Given the description of an element on the screen output the (x, y) to click on. 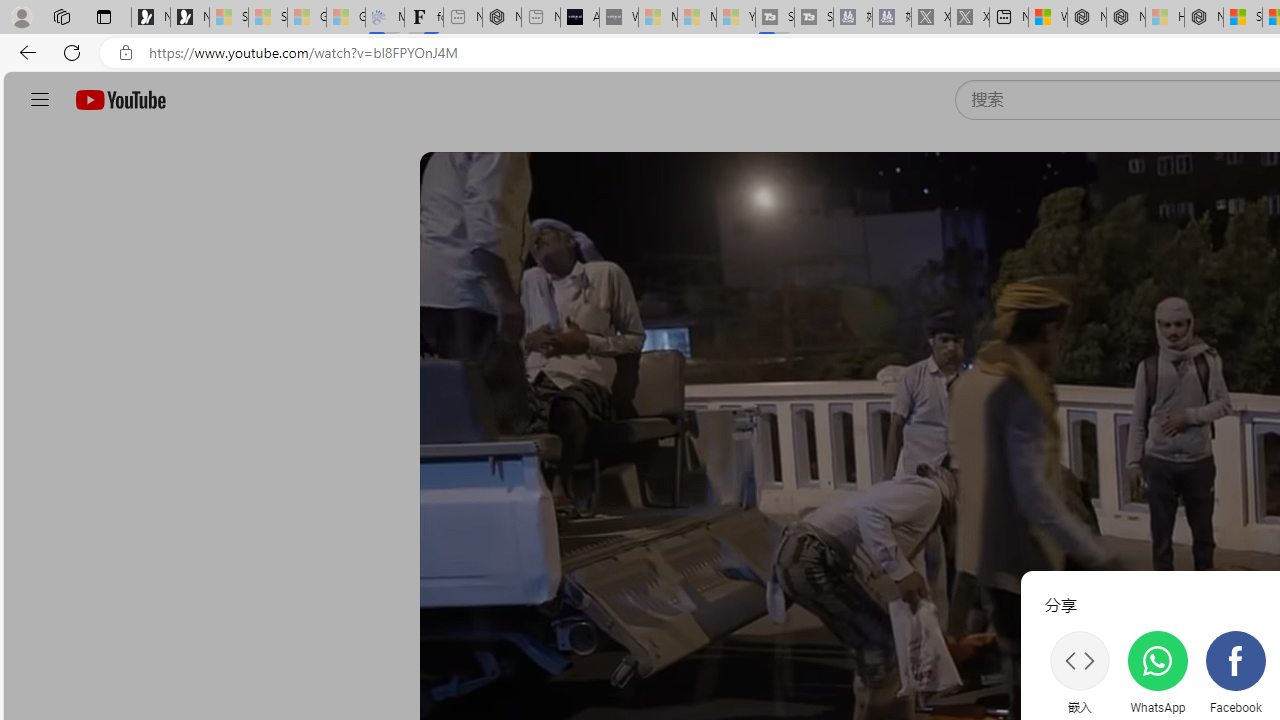
Microsoft Start - Sleeping (696, 17)
